Given the description of an element on the screen output the (x, y) to click on. 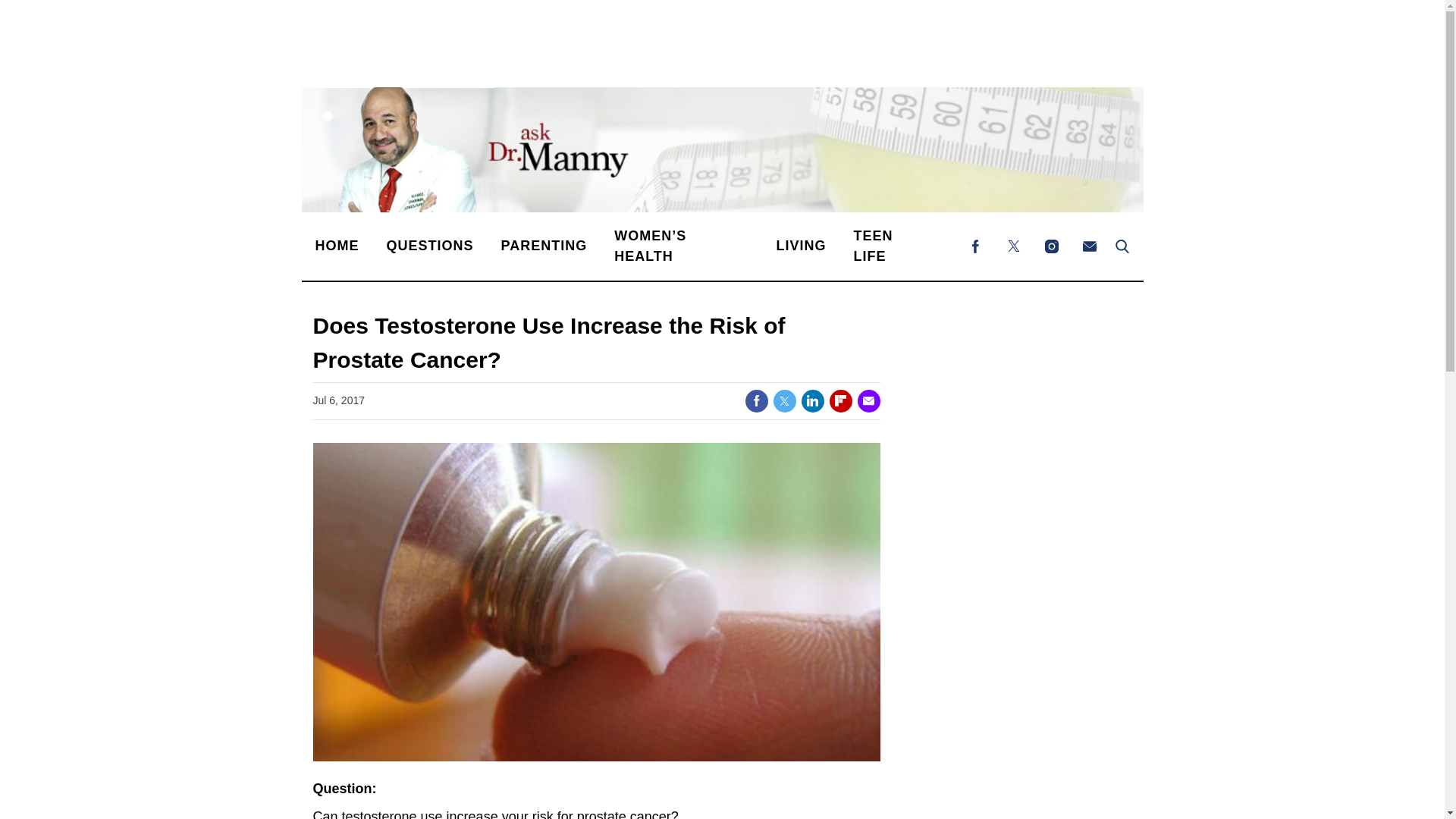
Share on Flipboard (840, 400)
PARENTING (544, 246)
Share on Facebook (755, 400)
HOME (336, 246)
Share via Email (868, 400)
TEEN LIFE (891, 246)
LIVING (800, 246)
QUESTIONS (429, 246)
Share on LinkedIn (812, 400)
Share on Twitter (784, 400)
